Given the description of an element on the screen output the (x, y) to click on. 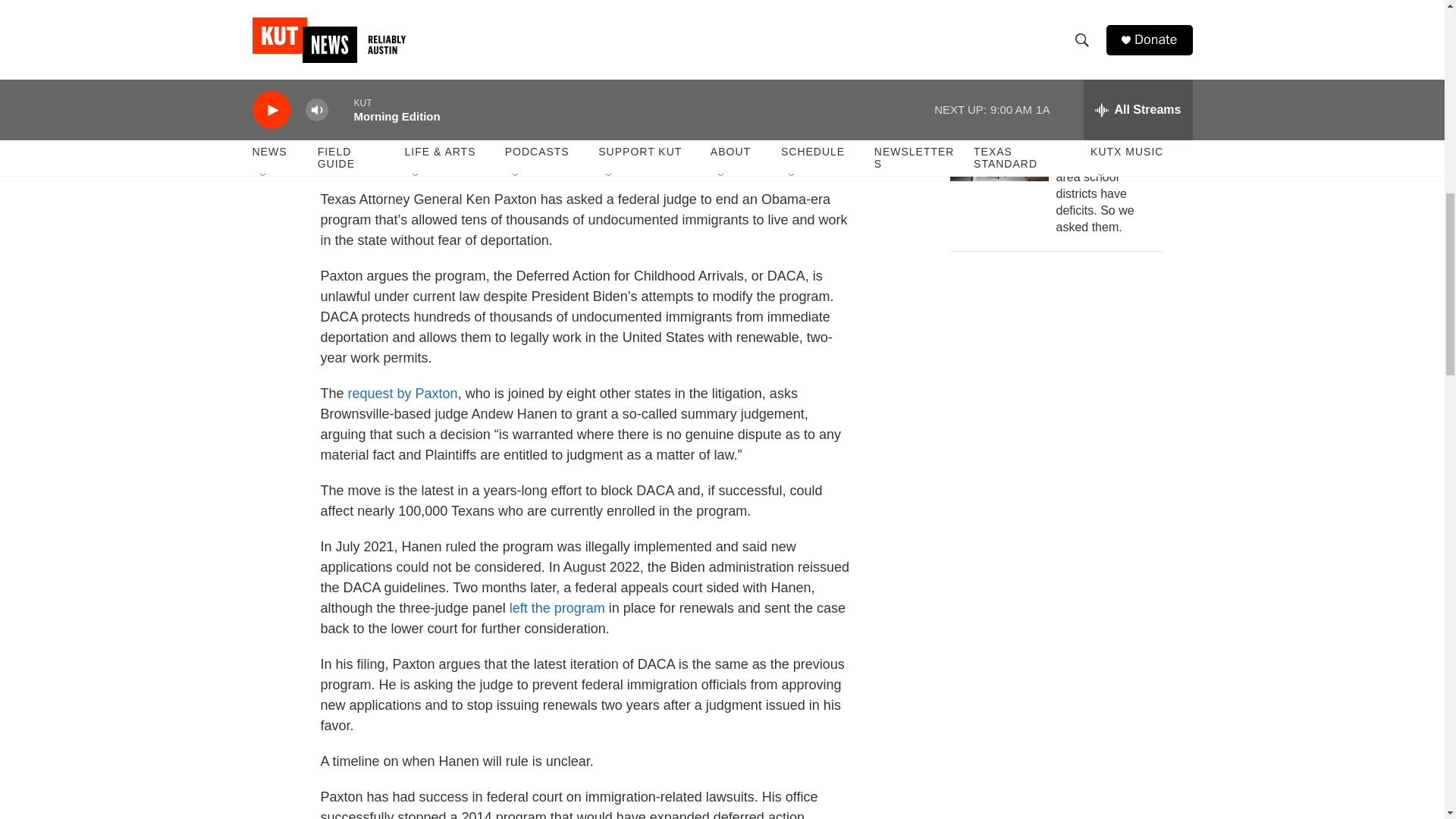
3rd party ad content (1062, 596)
3rd party ad content (1062, 376)
